Given the description of an element on the screen output the (x, y) to click on. 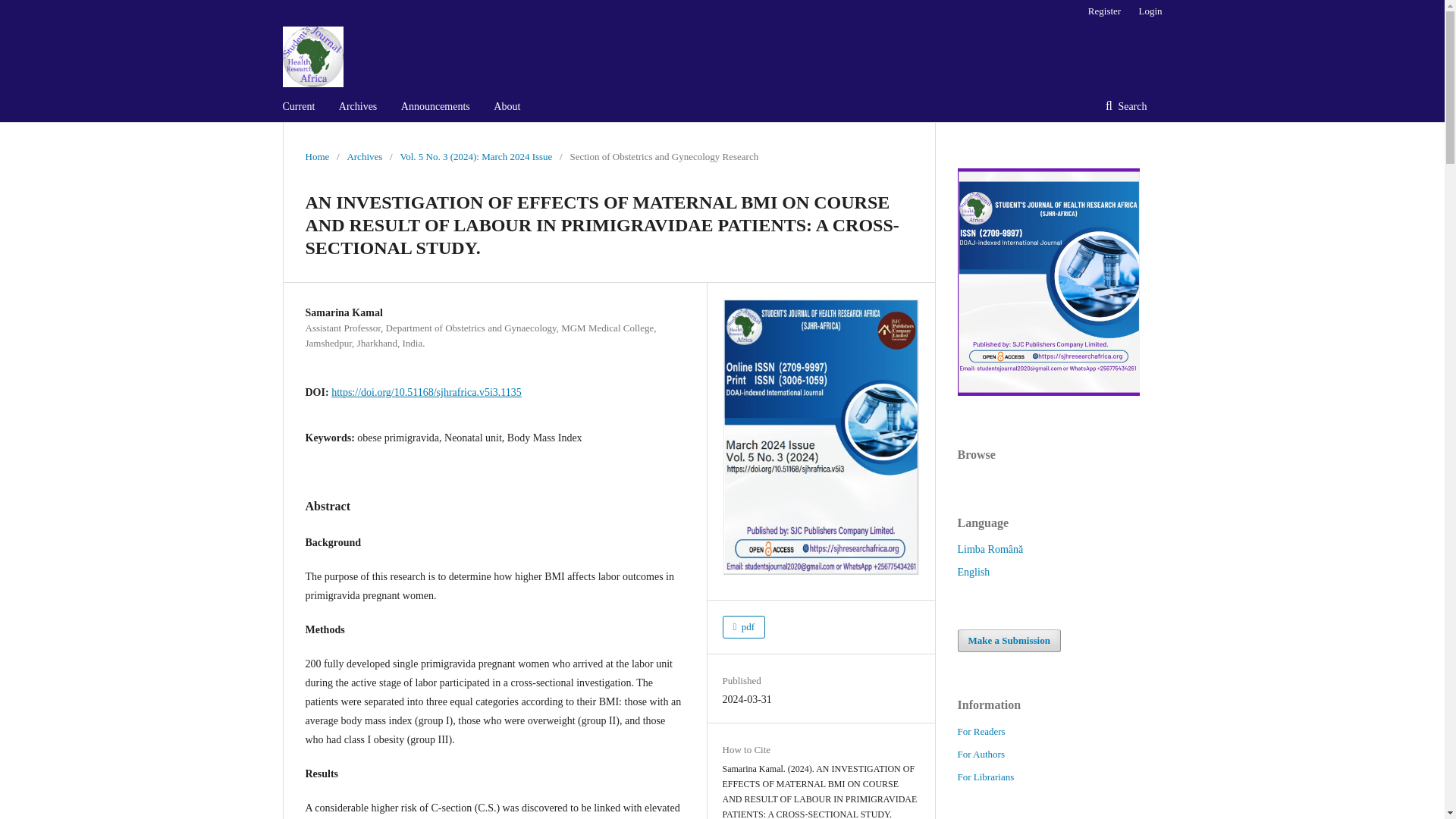
pdf (743, 626)
Login (1146, 11)
Home (316, 156)
Archives (363, 156)
Current (298, 106)
Archives (358, 106)
Search (1125, 106)
Register (1104, 11)
Announcements (435, 106)
